Given the description of an element on the screen output the (x, y) to click on. 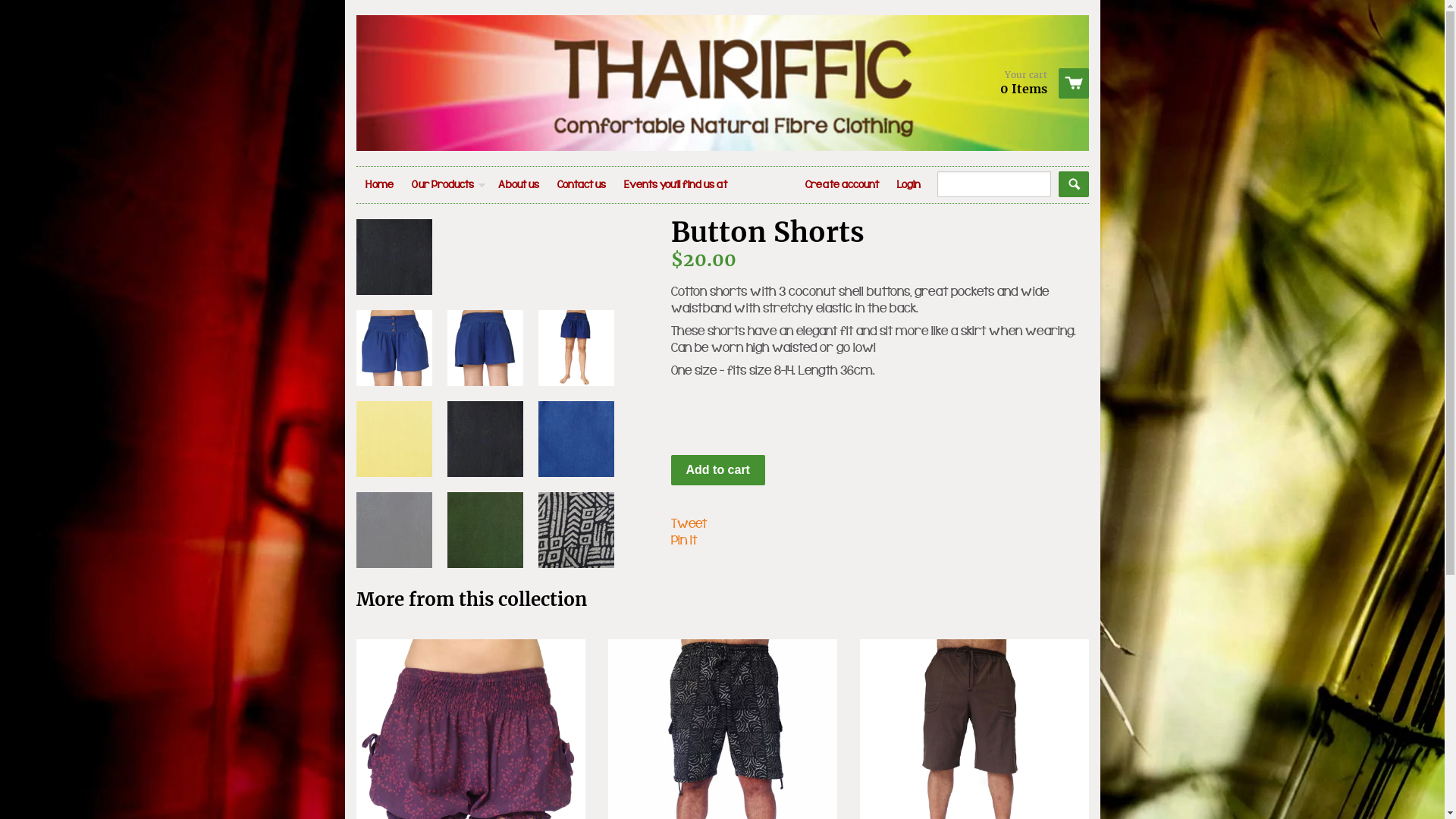
View cart
Your cart
0 Items Element type: text (1038, 83)
About us Element type: text (517, 184)
Login Element type: text (907, 184)
Our Products Element type: text (444, 184)
Events you'll find us at Element type: text (674, 184)
Contact us Element type: text (580, 184)
Go Element type: text (1073, 184)
Tweet Element type: text (688, 523)
Add to cart Element type: text (717, 470)
Pin It Element type: text (683, 540)
Home Element type: text (379, 184)
Create account Element type: text (842, 184)
